Given the description of an element on the screen output the (x, y) to click on. 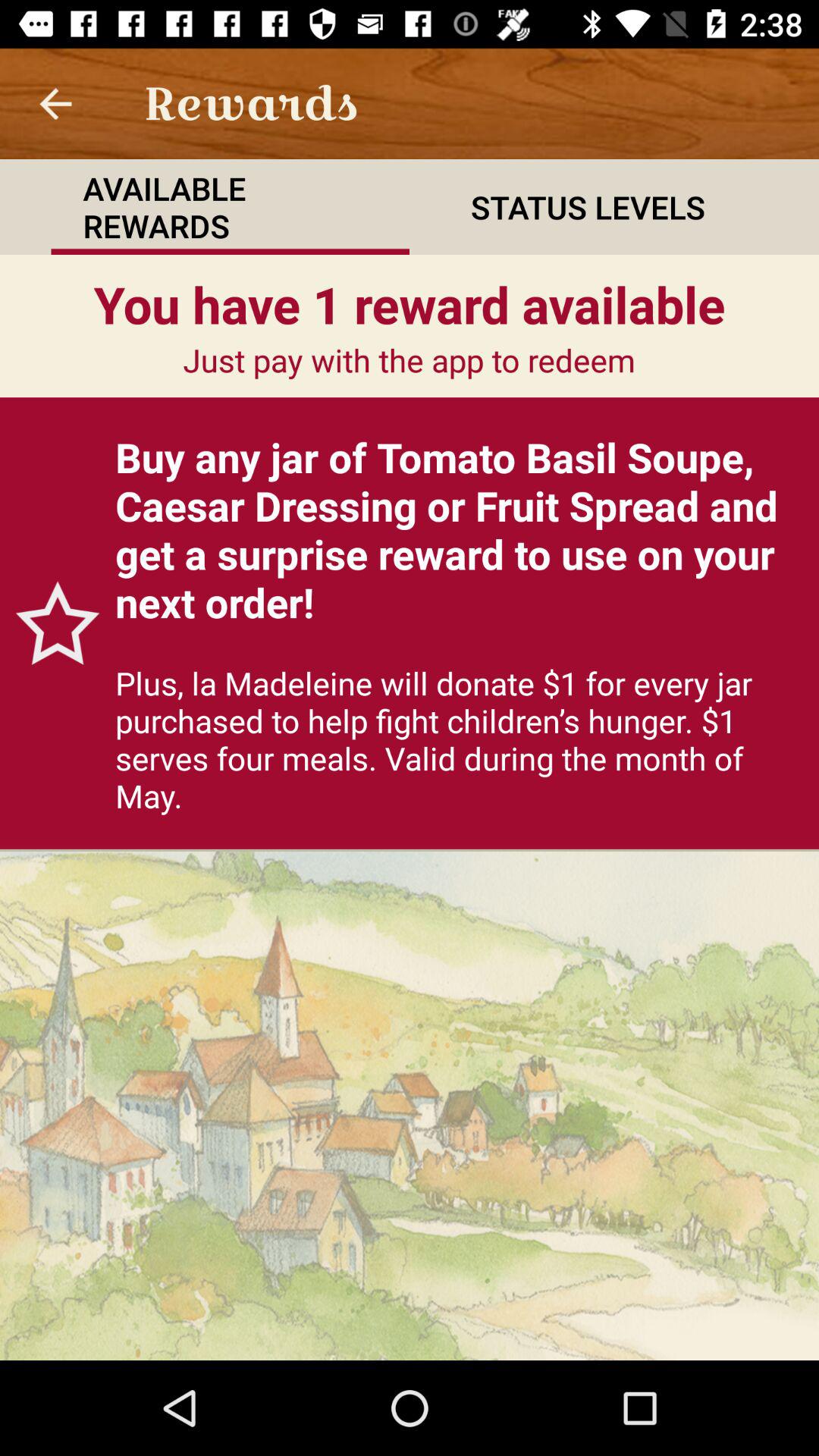
choose the item below the buy any jar icon (459, 739)
